Given the description of an element on the screen output the (x, y) to click on. 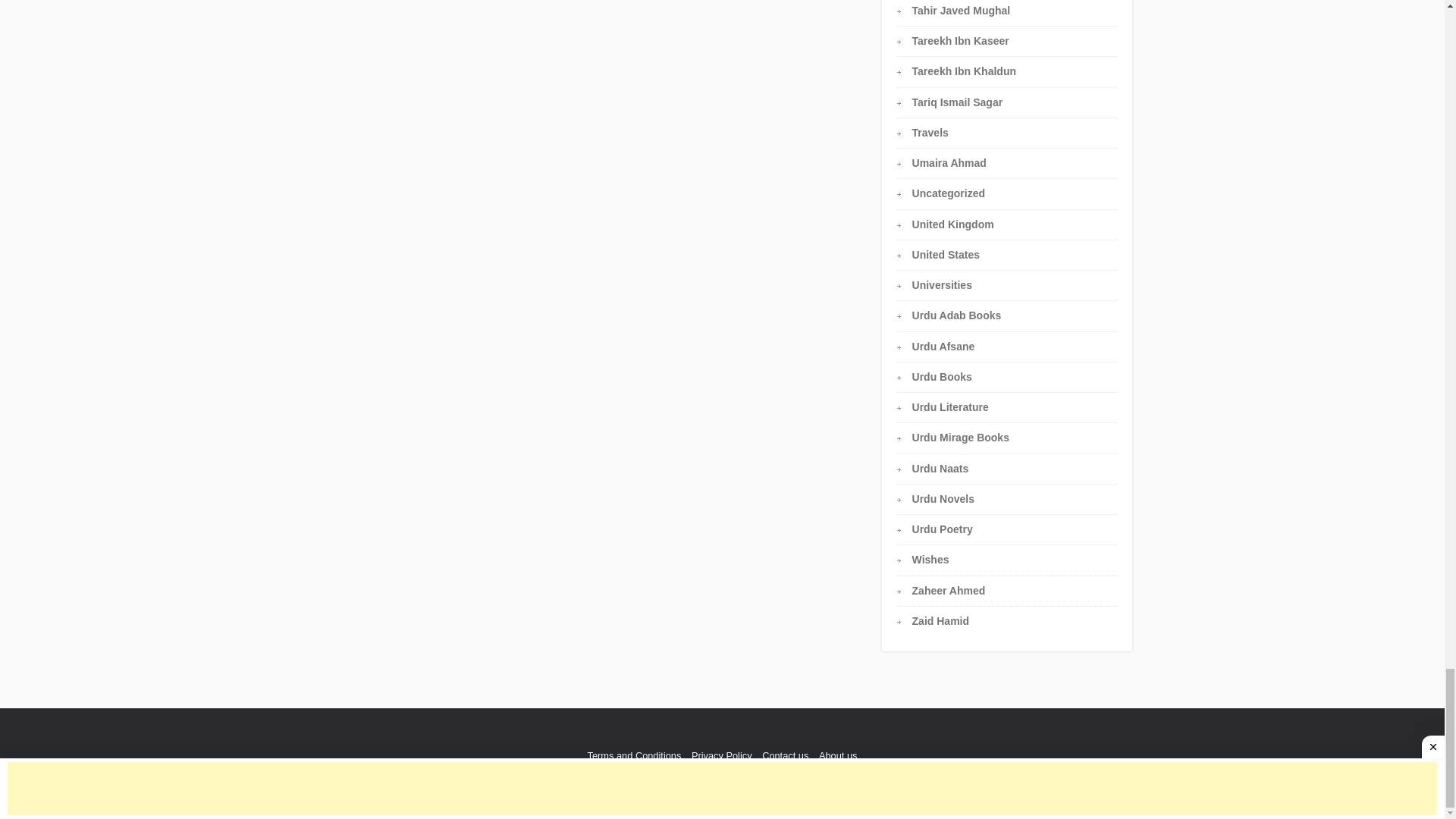
DMCA.com Protection Status (781, 788)
